Given the description of an element on the screen output the (x, y) to click on. 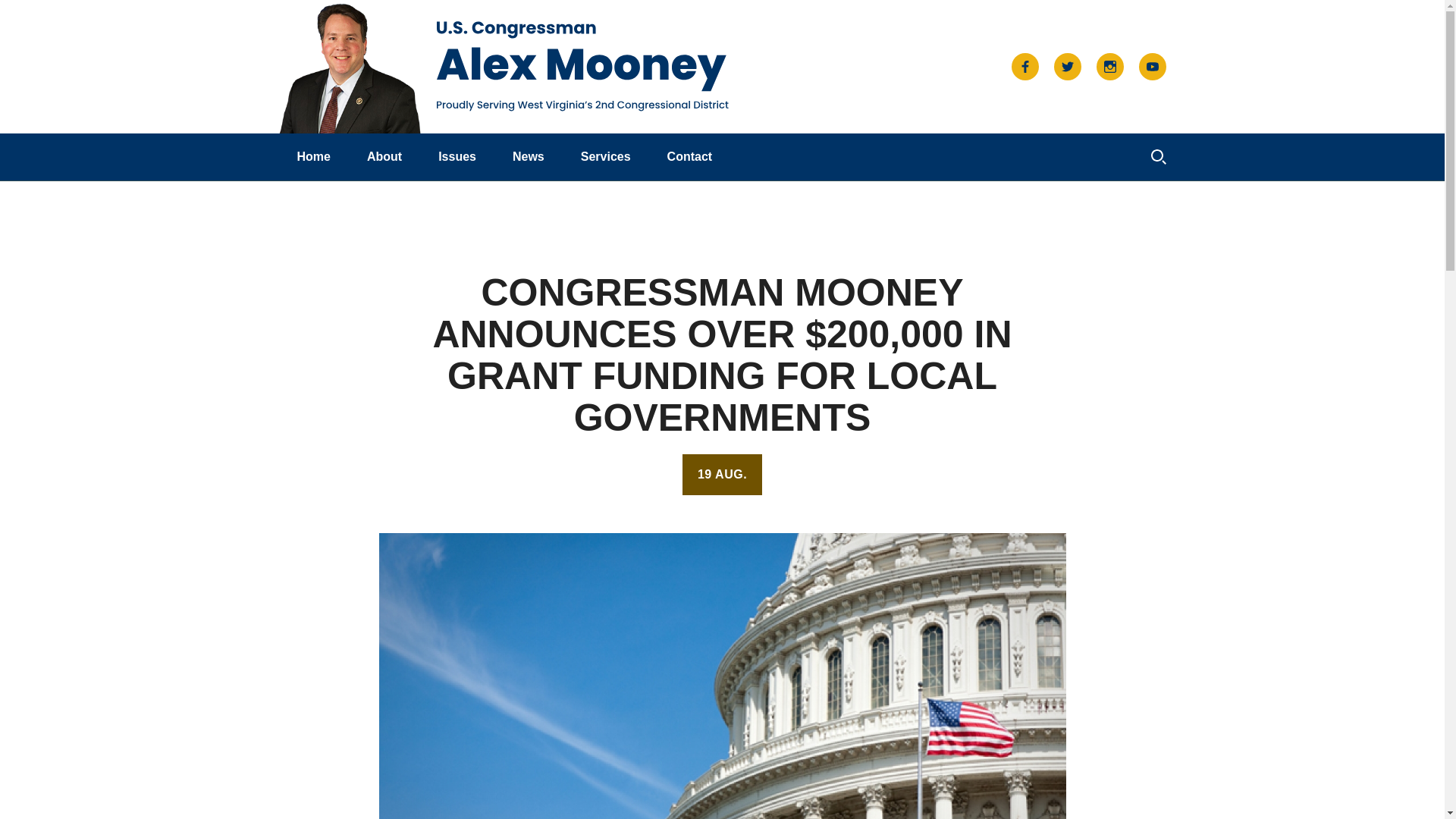
Issues (457, 152)
About (383, 152)
Services (605, 152)
News (528, 152)
Home (313, 152)
